Given the description of an element on the screen output the (x, y) to click on. 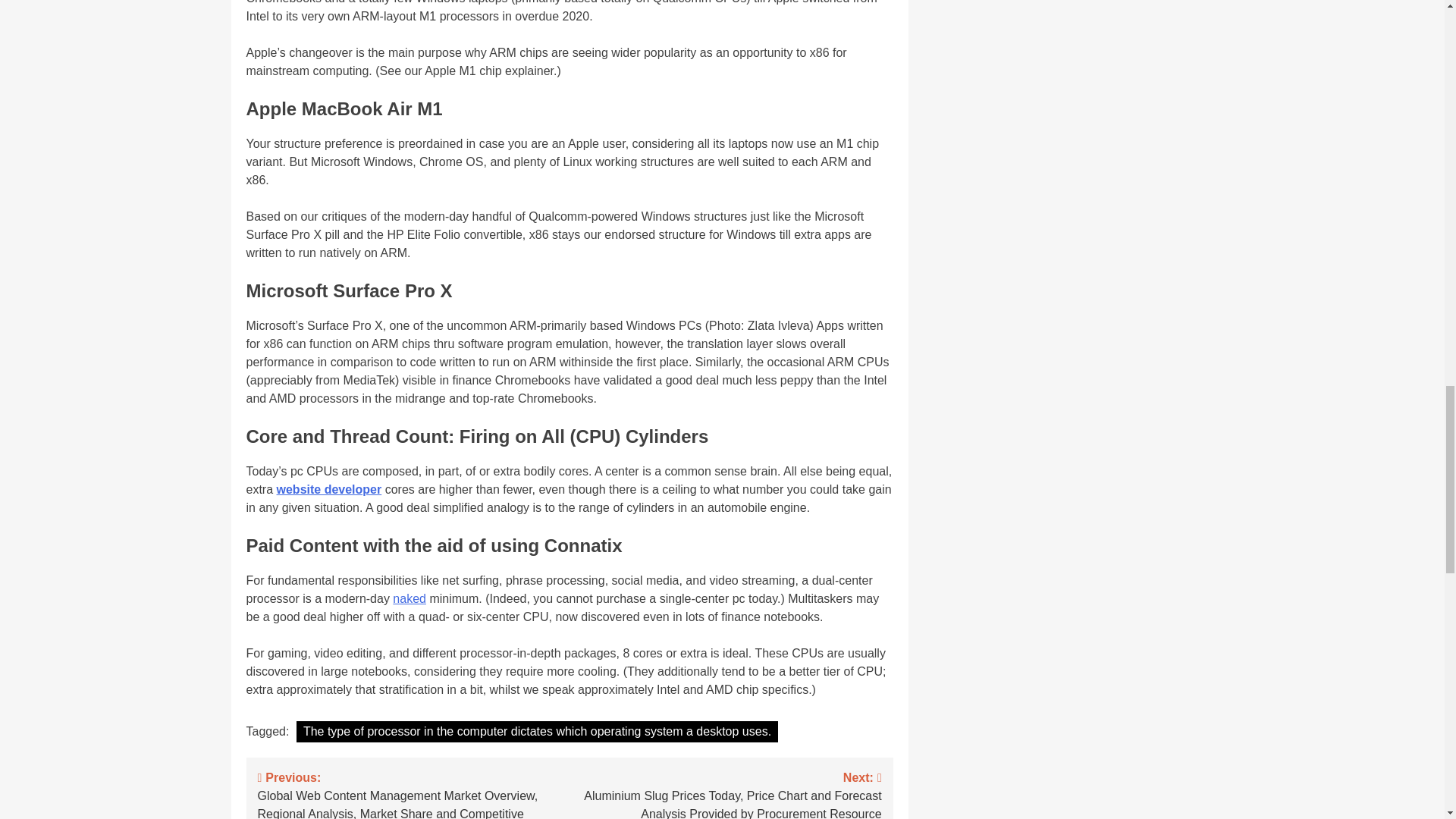
website developer (328, 489)
naked (409, 598)
